Given the description of an element on the screen output the (x, y) to click on. 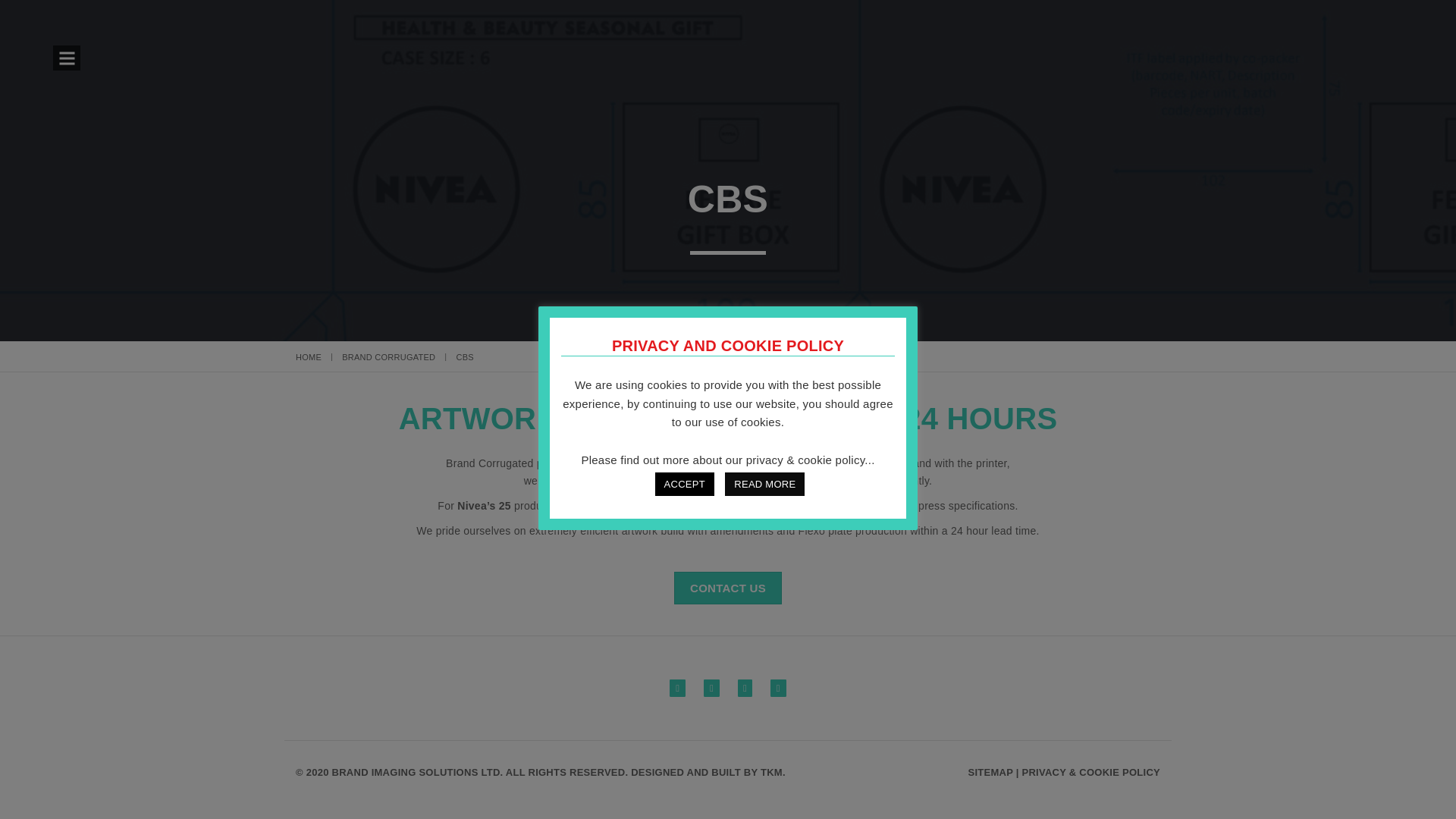
SITEMAP (989, 772)
CONTACT US (727, 587)
TKM. (773, 772)
ACCEPT (684, 484)
READ MORE (765, 484)
BRAND CORRUGATED (388, 356)
HOME (308, 356)
Open Menu (66, 57)
